Given the description of an element on the screen output the (x, y) to click on. 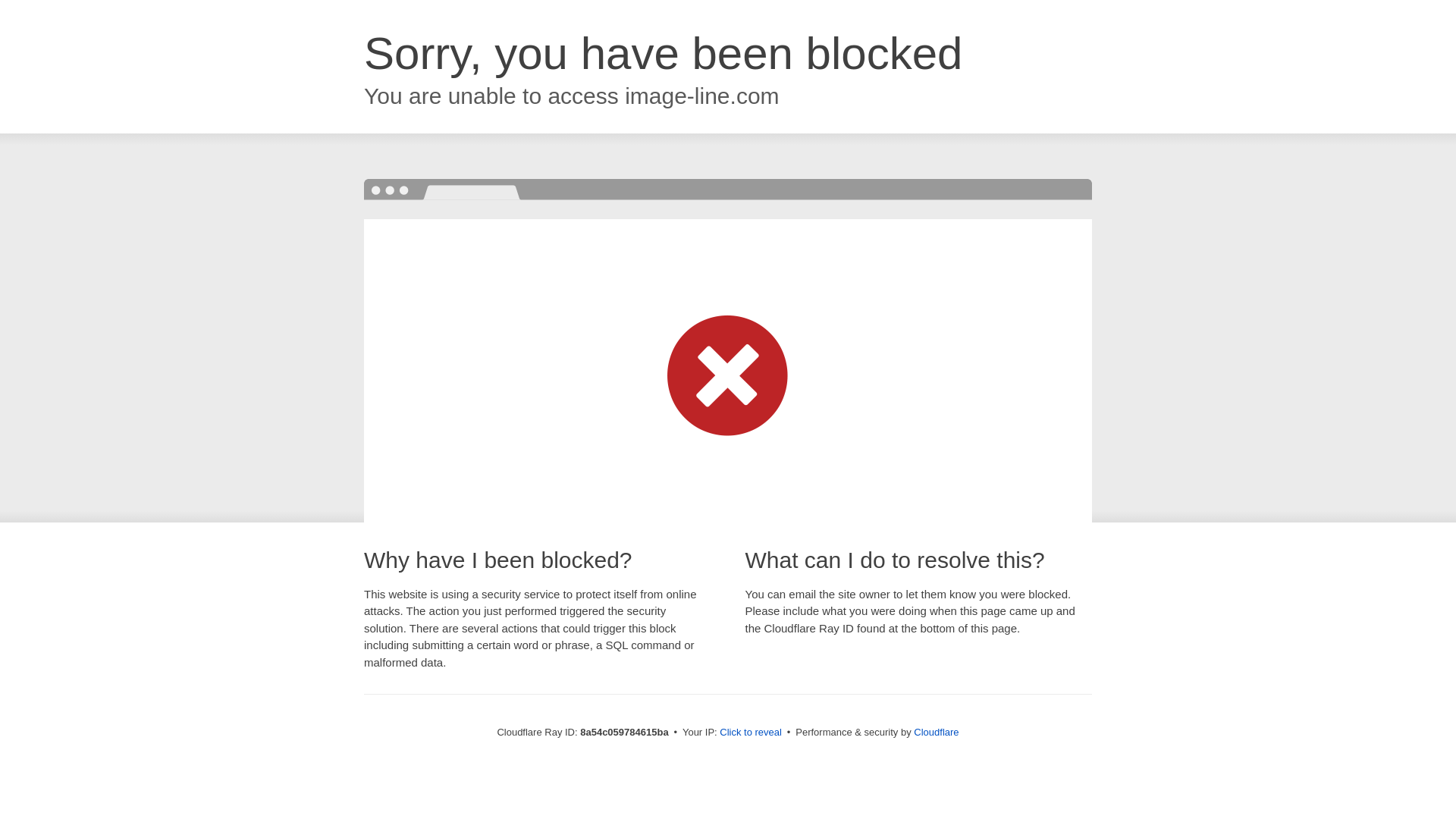
Click to reveal (750, 732)
Cloudflare (936, 731)
